Given the description of an element on the screen output the (x, y) to click on. 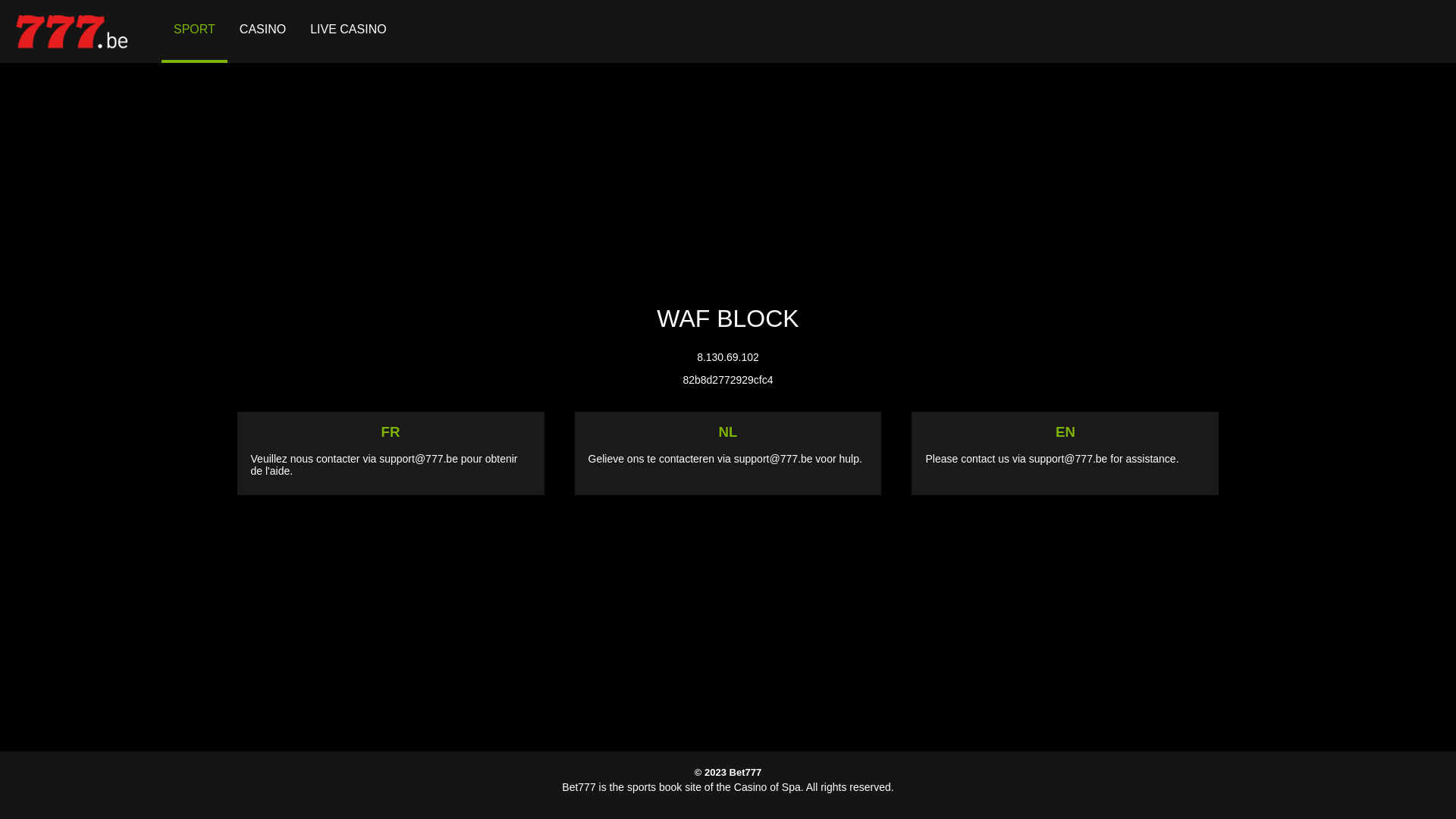
CASINO Element type: text (262, 31)
SPORT Element type: text (194, 31)
LIVE CASINO Element type: text (348, 31)
